Given the description of an element on the screen output the (x, y) to click on. 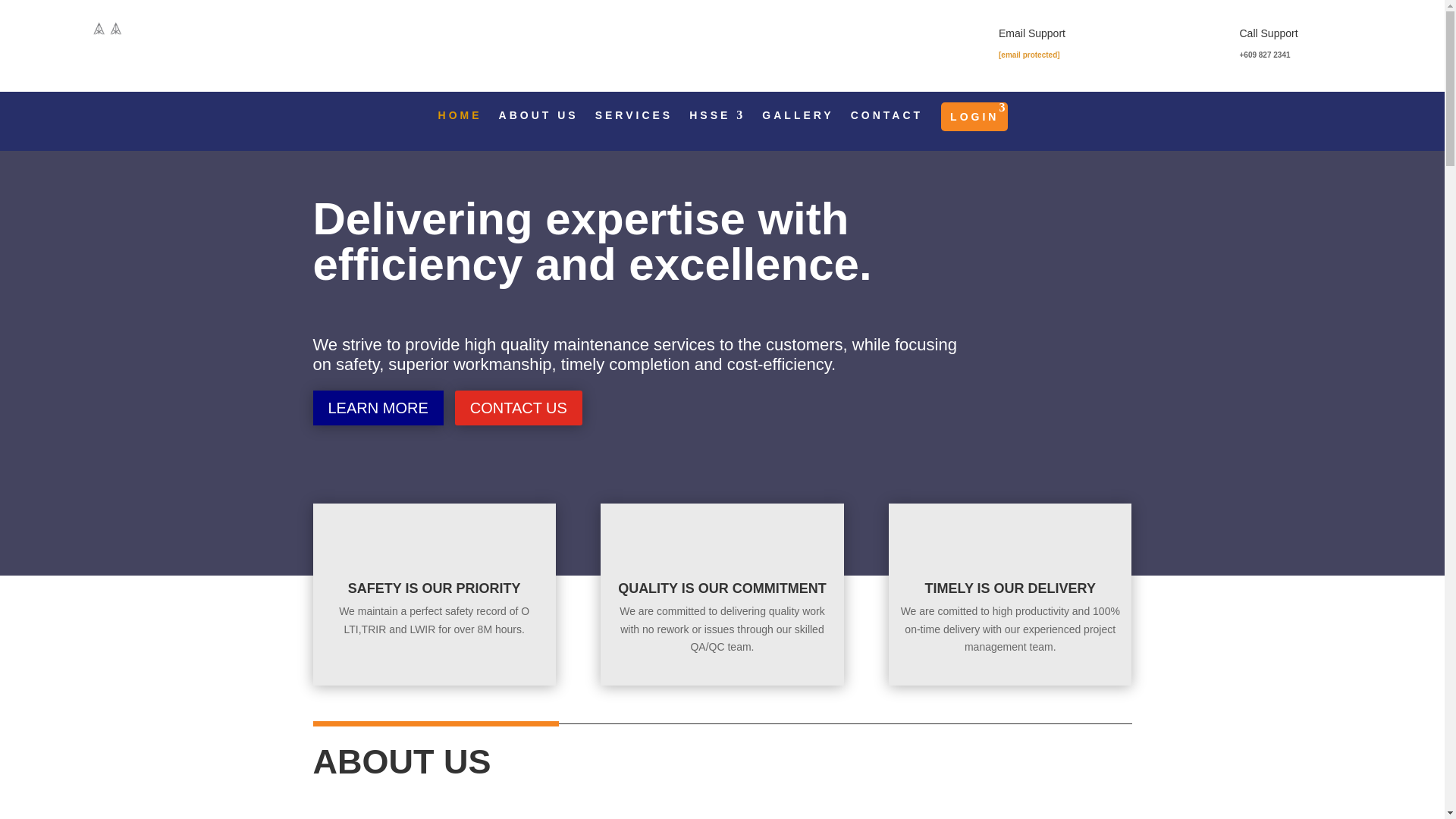
LEARN MORE (377, 407)
ABOUT US (538, 123)
Main Logo crop (107, 45)
GALLERY (796, 123)
SERVICES (633, 123)
LOGIN (973, 116)
HSSE (716, 123)
HOME (459, 123)
CONTACT (886, 123)
CONTACT US (518, 407)
